Given the description of an element on the screen output the (x, y) to click on. 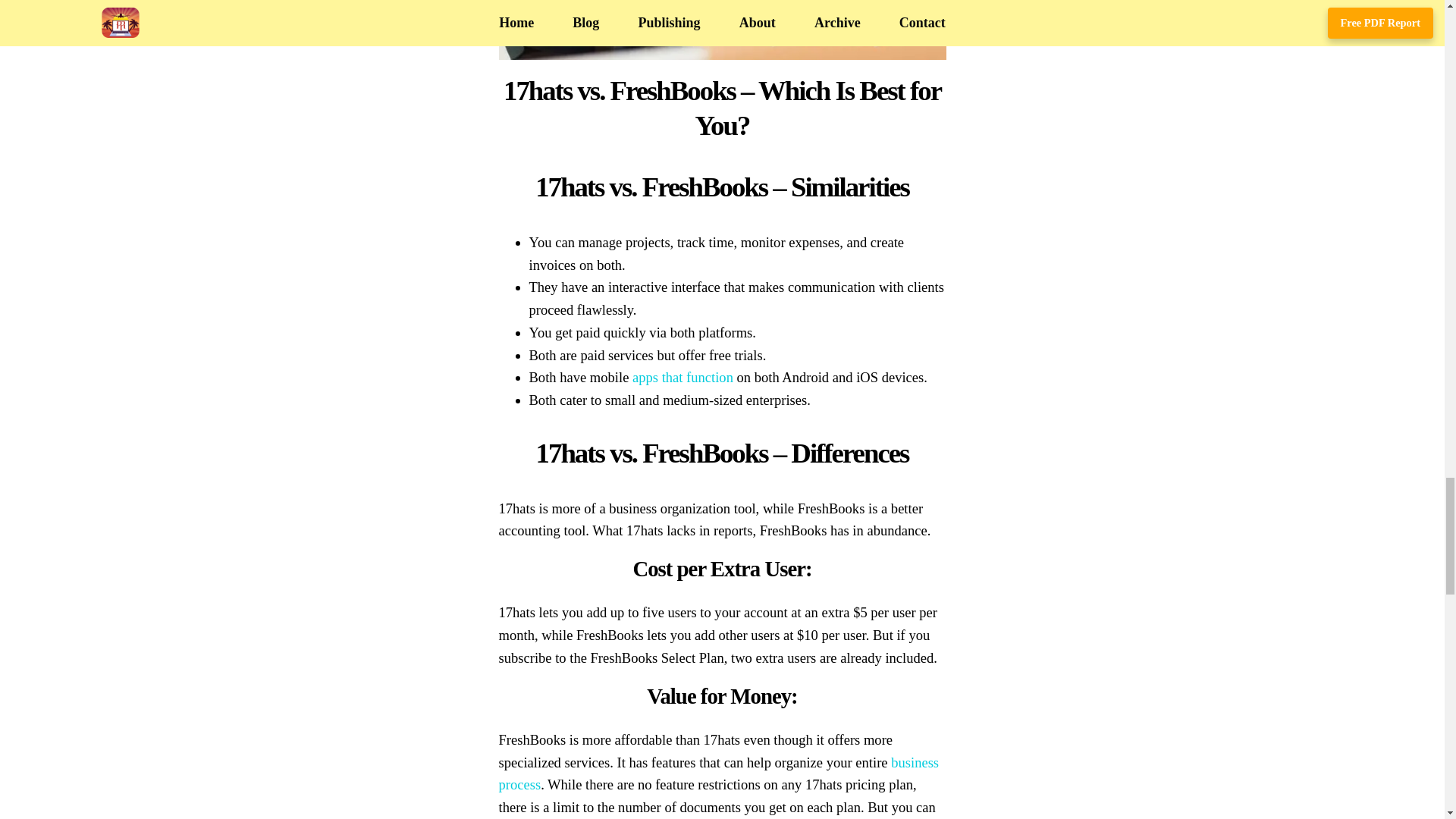
business process (719, 773)
apps that function (682, 376)
